Given the description of an element on the screen output the (x, y) to click on. 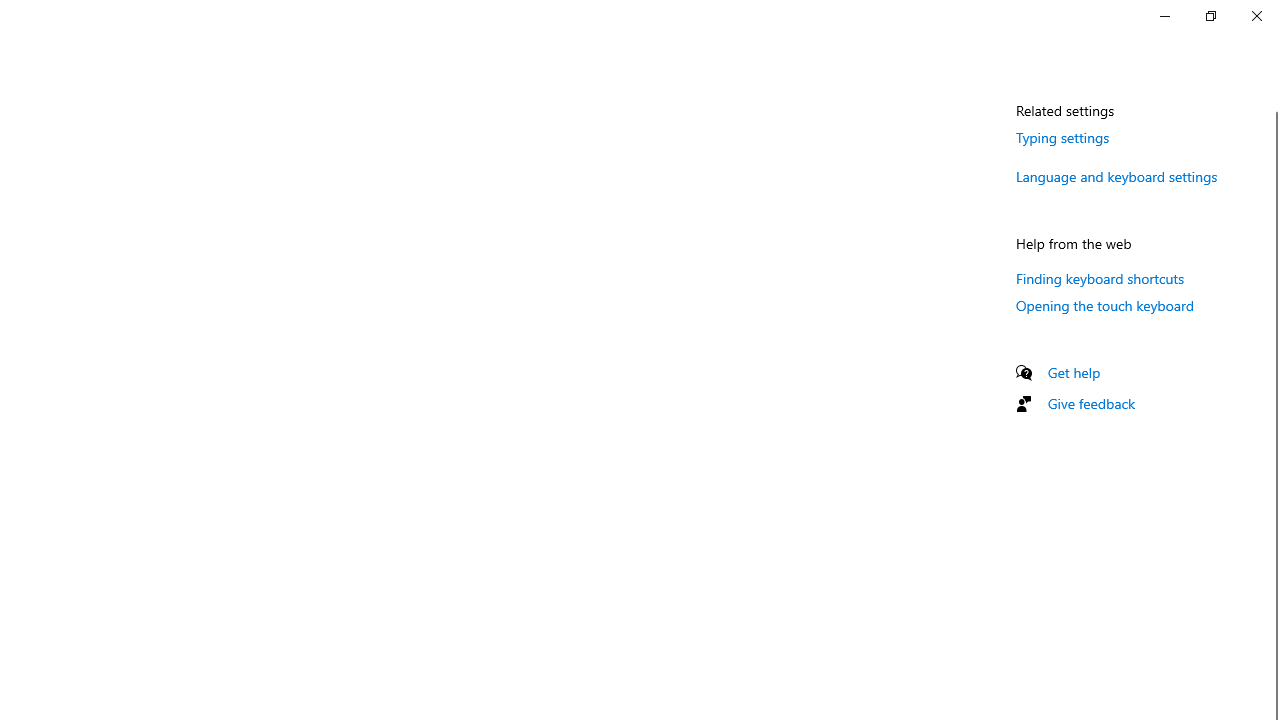
Finding keyboard shortcuts (1100, 278)
Typing settings (1062, 137)
Opening the touch keyboard (1105, 305)
Close Settings (1256, 15)
Language and keyboard settings (1117, 176)
Get help (1074, 372)
Give feedback (1091, 403)
Vertical Small Decrease (1272, 103)
Minimize Settings (1164, 15)
Restore Settings (1210, 15)
